Given the description of an element on the screen output the (x, y) to click on. 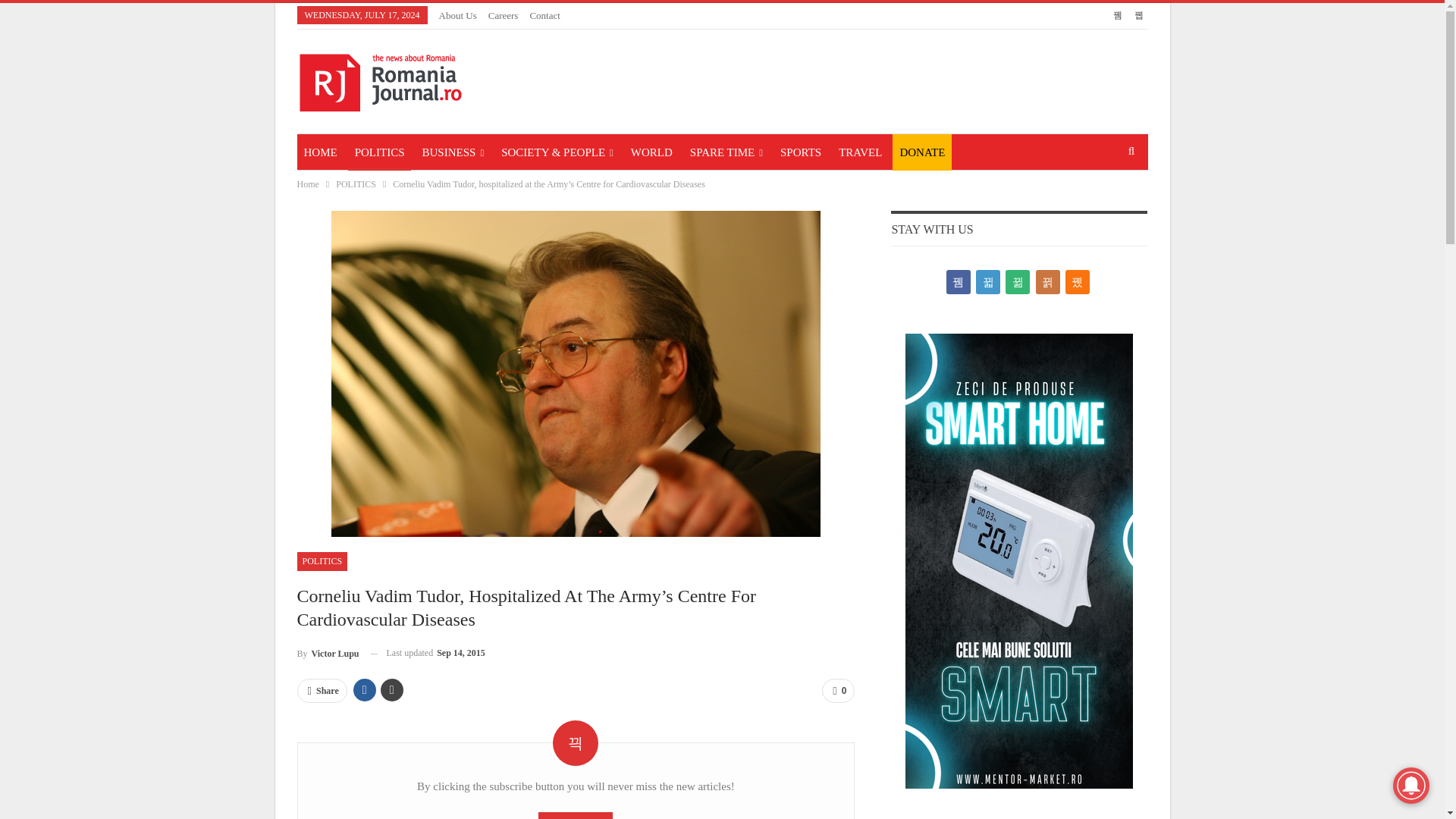
Browse Author Articles (328, 652)
POLITICS (322, 561)
HOME (320, 152)
By Victor Lupu (328, 652)
SPARE TIME (726, 152)
Home (307, 184)
SPORTS (800, 152)
About Us (458, 15)
TRAVEL (859, 152)
WORLD (651, 152)
Careers (502, 15)
POLITICS (379, 152)
POLITICS (355, 184)
DONATE (922, 152)
Contact (544, 15)
